Given the description of an element on the screen output the (x, y) to click on. 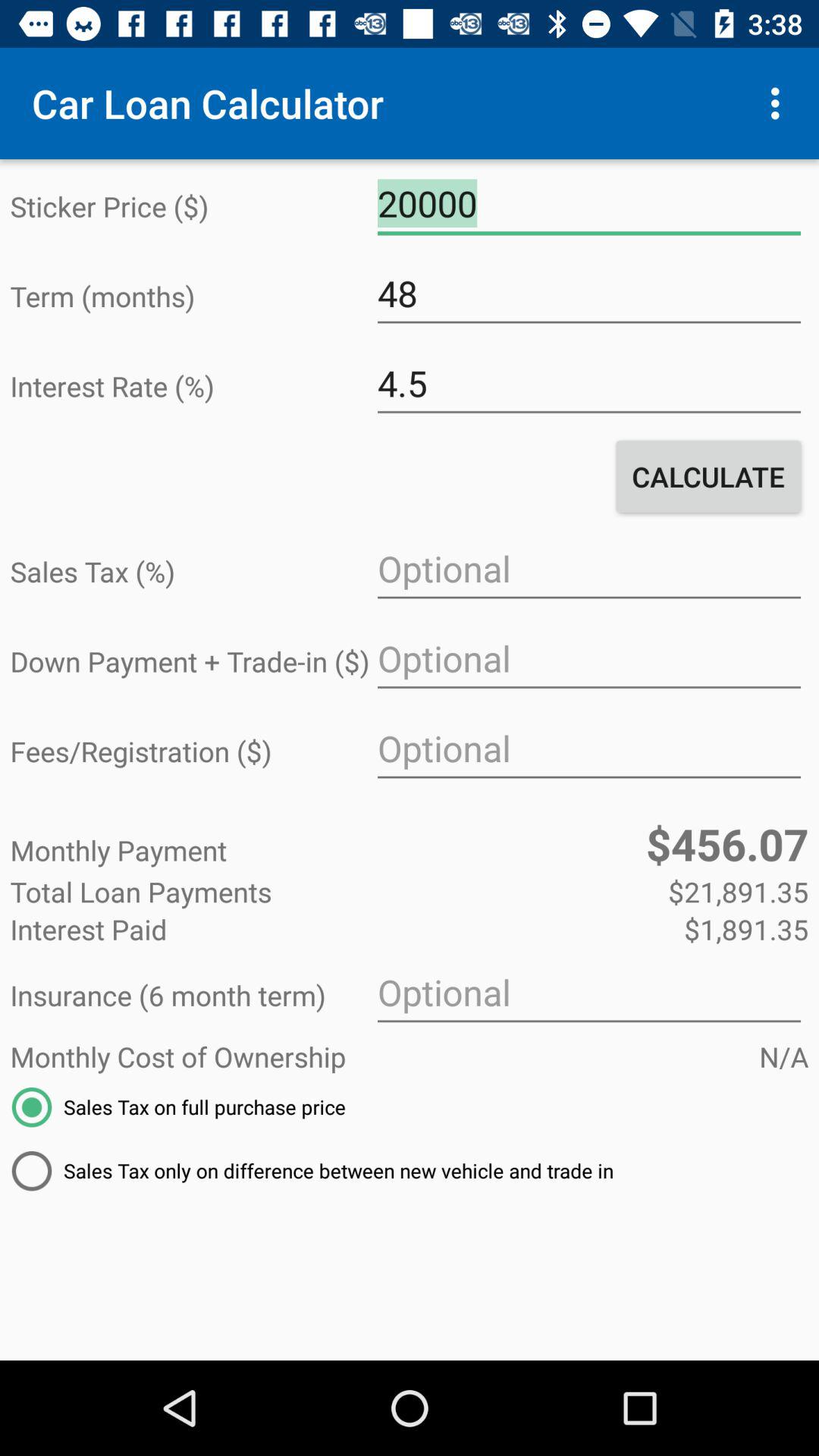
turn off the item to the right of sales tax (%) (588, 569)
